Given the description of an element on the screen output the (x, y) to click on. 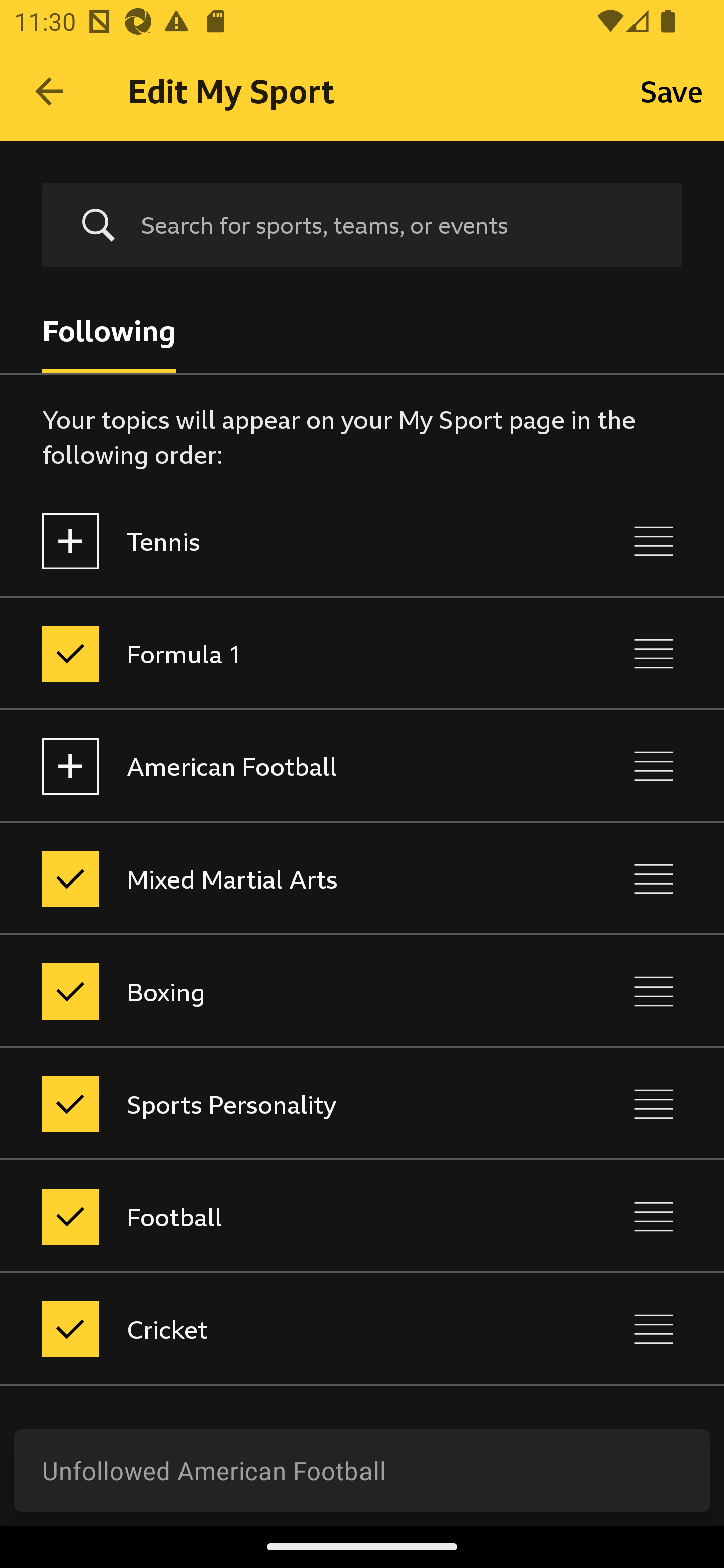
Navigate up (49, 91)
Save (671, 90)
Search for sports, teams, or events (361, 225)
Search for sports, teams, or events (396, 224)
Tennis (277, 540)
Reorder Tennis (653, 540)
Formula 1 (277, 653)
Reorder Formula 1 (653, 653)
American Football (277, 766)
Reorder American Football (653, 766)
Mixed Martial Arts (277, 878)
Reorder Mixed Martial Arts (653, 878)
Boxing (277, 990)
Reorder Boxing (653, 990)
Sports Personality (277, 1103)
Reorder Sports Personality (653, 1103)
Football (277, 1216)
Reorder Football (653, 1216)
Cricket (277, 1329)
Reorder Cricket (653, 1329)
